Given the description of an element on the screen output the (x, y) to click on. 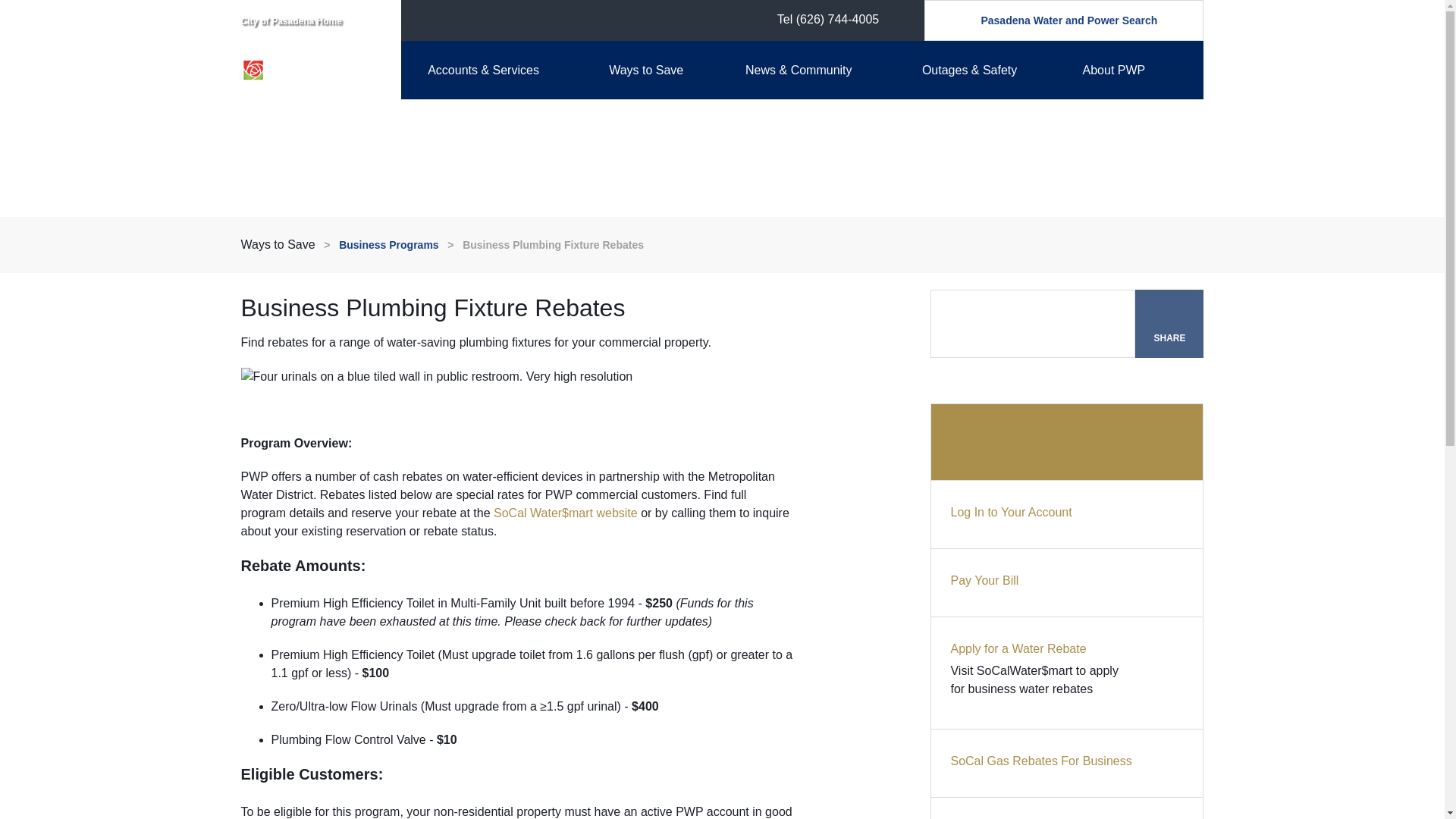
About PWP (1135, 69)
City of Pasadena Home (291, 20)
Ways to Save (662, 69)
GO (951, 20)
